Given the description of an element on the screen output the (x, y) to click on. 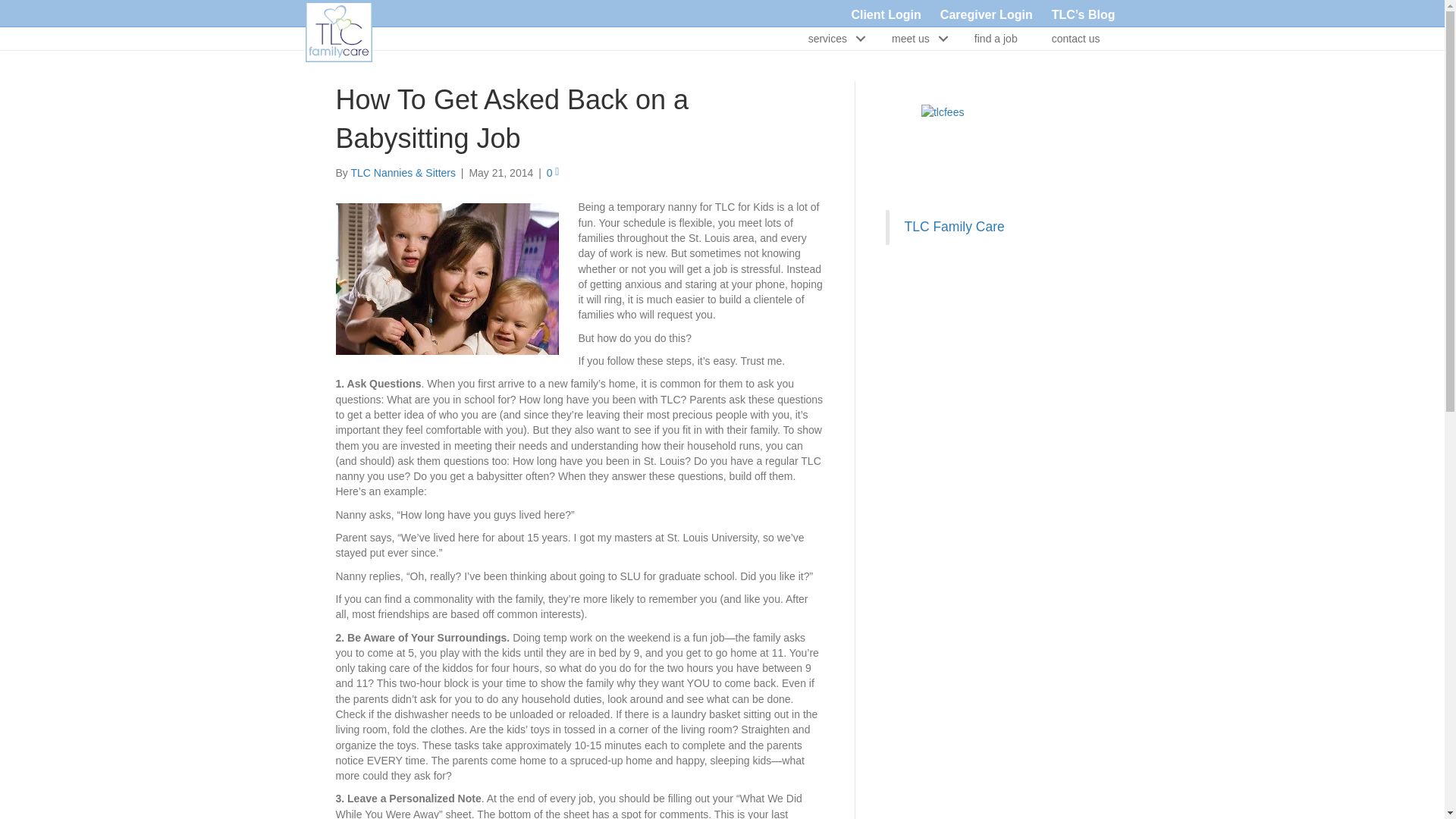
0 (553, 173)
Client Login (885, 14)
Caregiver Login (986, 14)
find a job (995, 38)
TLC-small-border (337, 32)
meet us (915, 38)
Babysitters in St. Louis (448, 278)
contact us (1075, 38)
TLC Family Care (954, 226)
services (833, 38)
